Given the description of an element on the screen output the (x, y) to click on. 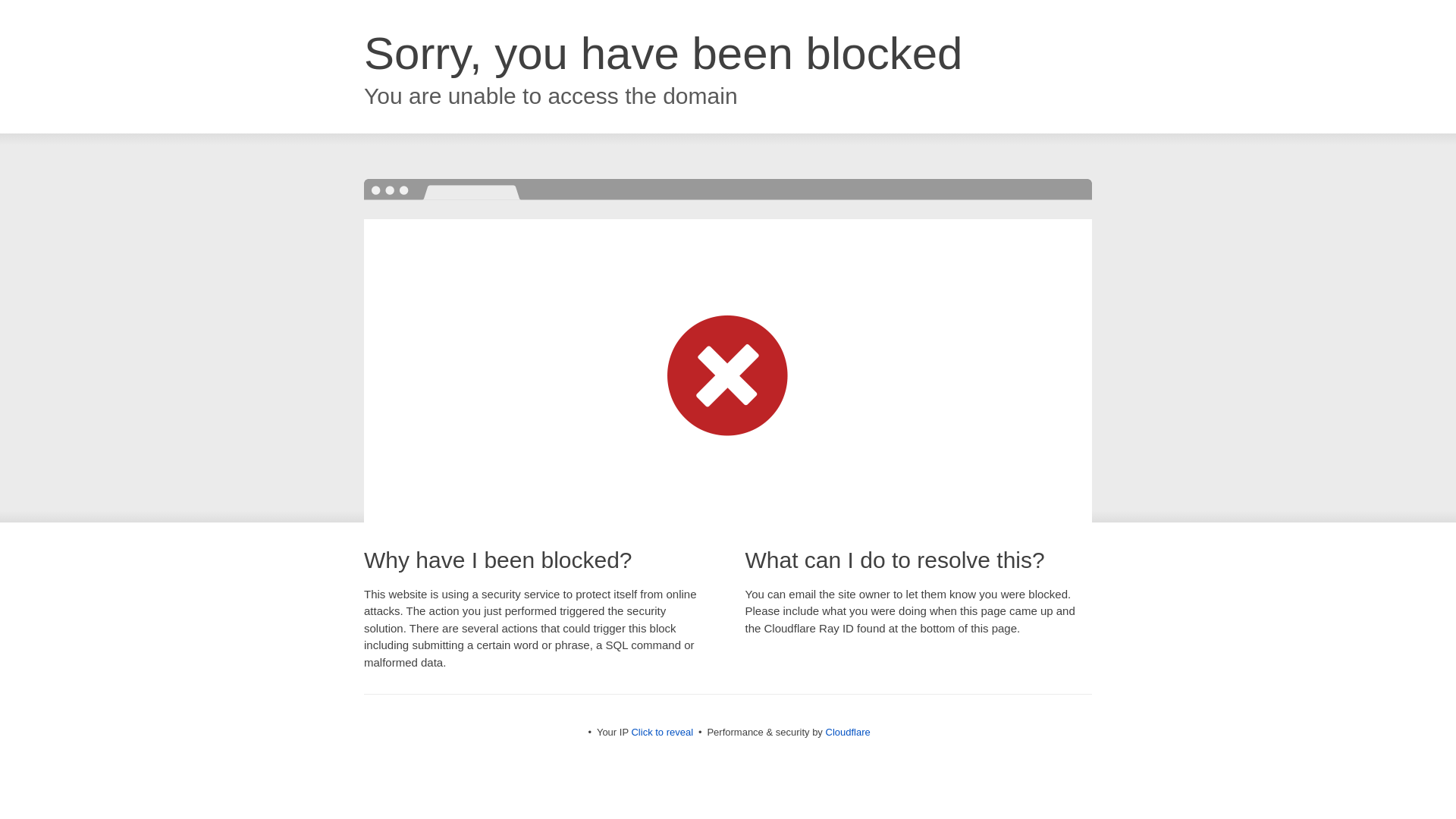
Click to reveal (661, 731)
Cloudflare (847, 731)
